Given the description of an element on the screen output the (x, y) to click on. 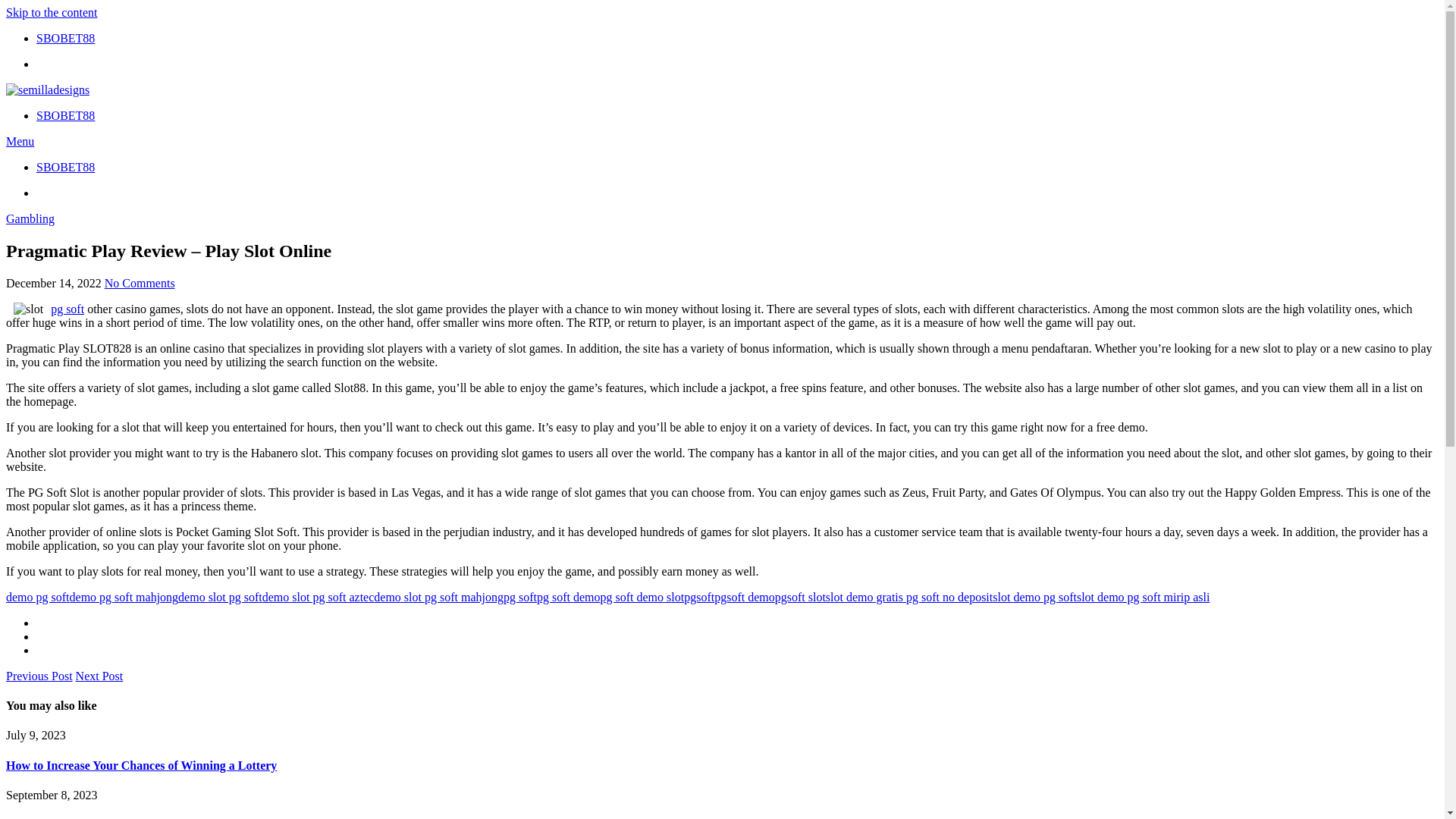
pg soft (67, 308)
pg soft (520, 596)
demo slot pg soft mahjong (438, 596)
slot demo gratis pg soft no deposit (908, 596)
Menu (19, 141)
Gambling (30, 218)
pg soft demo (568, 596)
pgsoft (699, 596)
SBOBET88 (65, 38)
demo slot pg soft aztec (318, 596)
Previous Post (38, 675)
pgsoft slot (799, 596)
slot demo pg soft (1034, 596)
Skip to the content (51, 11)
